Given the description of an element on the screen output the (x, y) to click on. 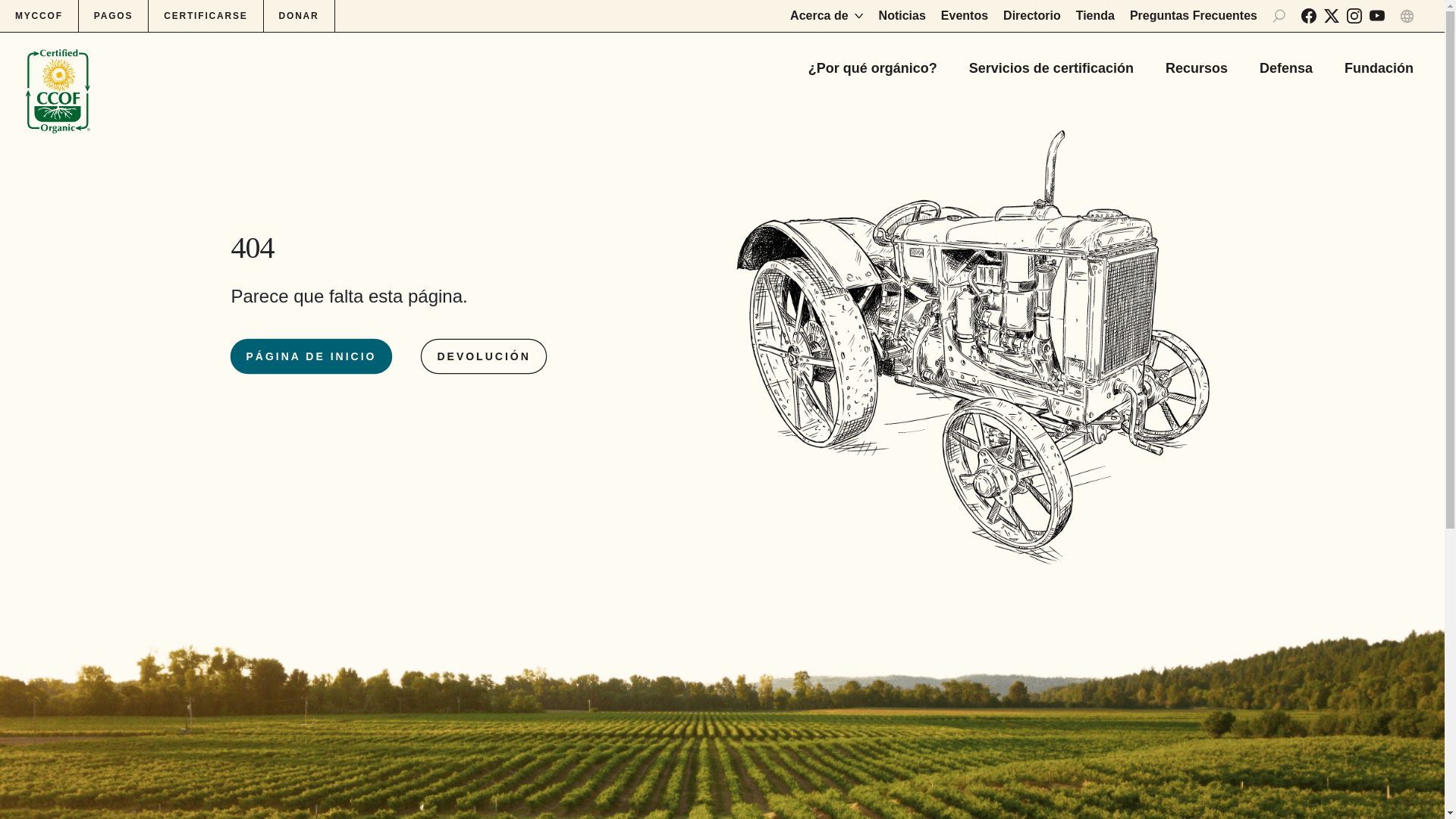
cambiar idioma (1406, 16)
DONAR (298, 15)
CERTIFICARSE (205, 15)
Noticias (902, 15)
Tienda (1095, 15)
Directorio (1032, 15)
Acerca de (826, 15)
Eventos (964, 15)
Preguntas Frecuentes (1193, 15)
MYCCOF (39, 15)
PAGOS (113, 15)
